Given the description of an element on the screen output the (x, y) to click on. 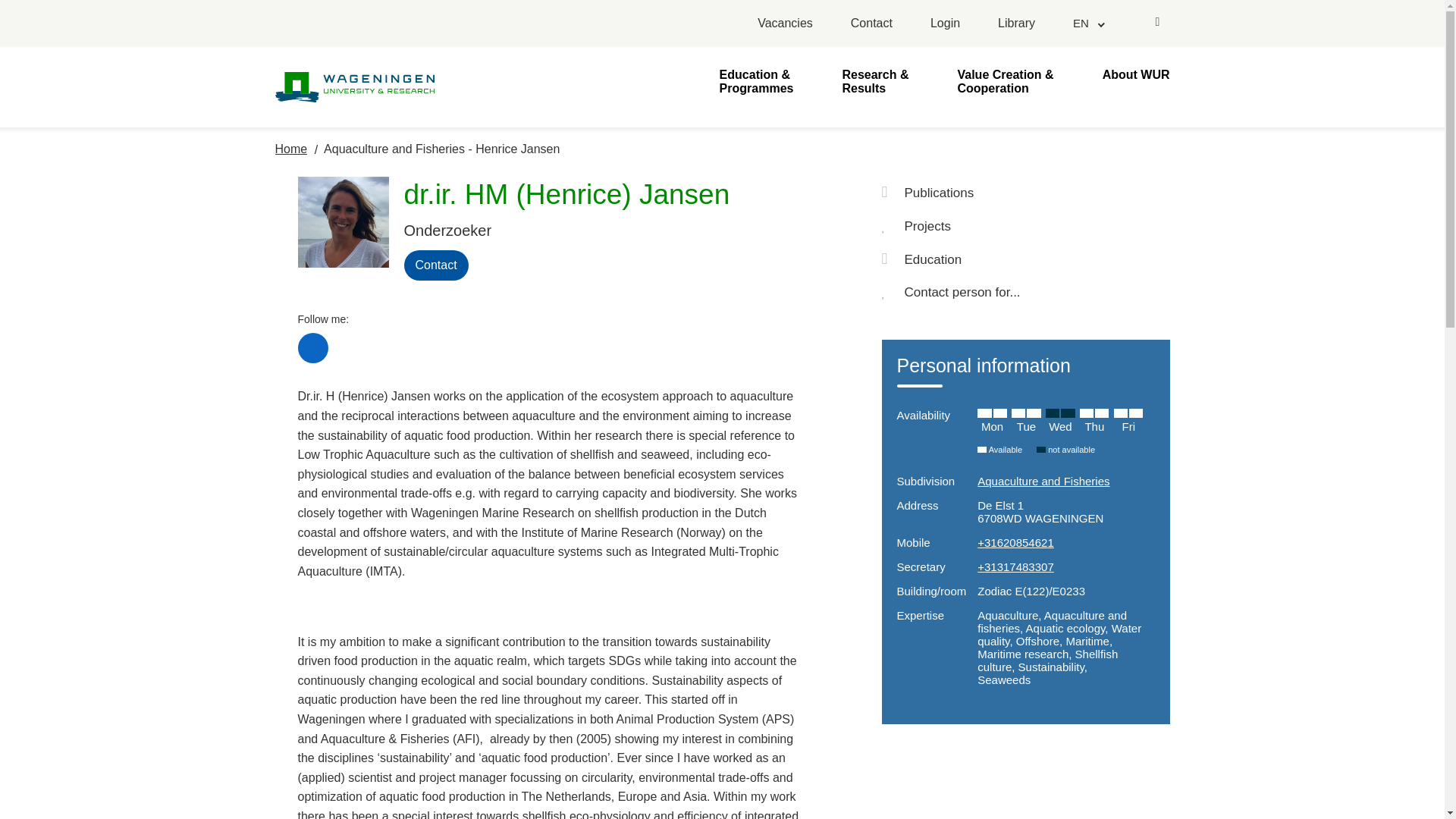
Education (1024, 259)
Login (944, 23)
Contact (870, 23)
Projects (1024, 226)
Contact (870, 23)
Library (1016, 23)
Login (944, 23)
Library (1016, 23)
EN (1086, 23)
Contact person for... (1024, 292)
